Given the description of an element on the screen output the (x, y) to click on. 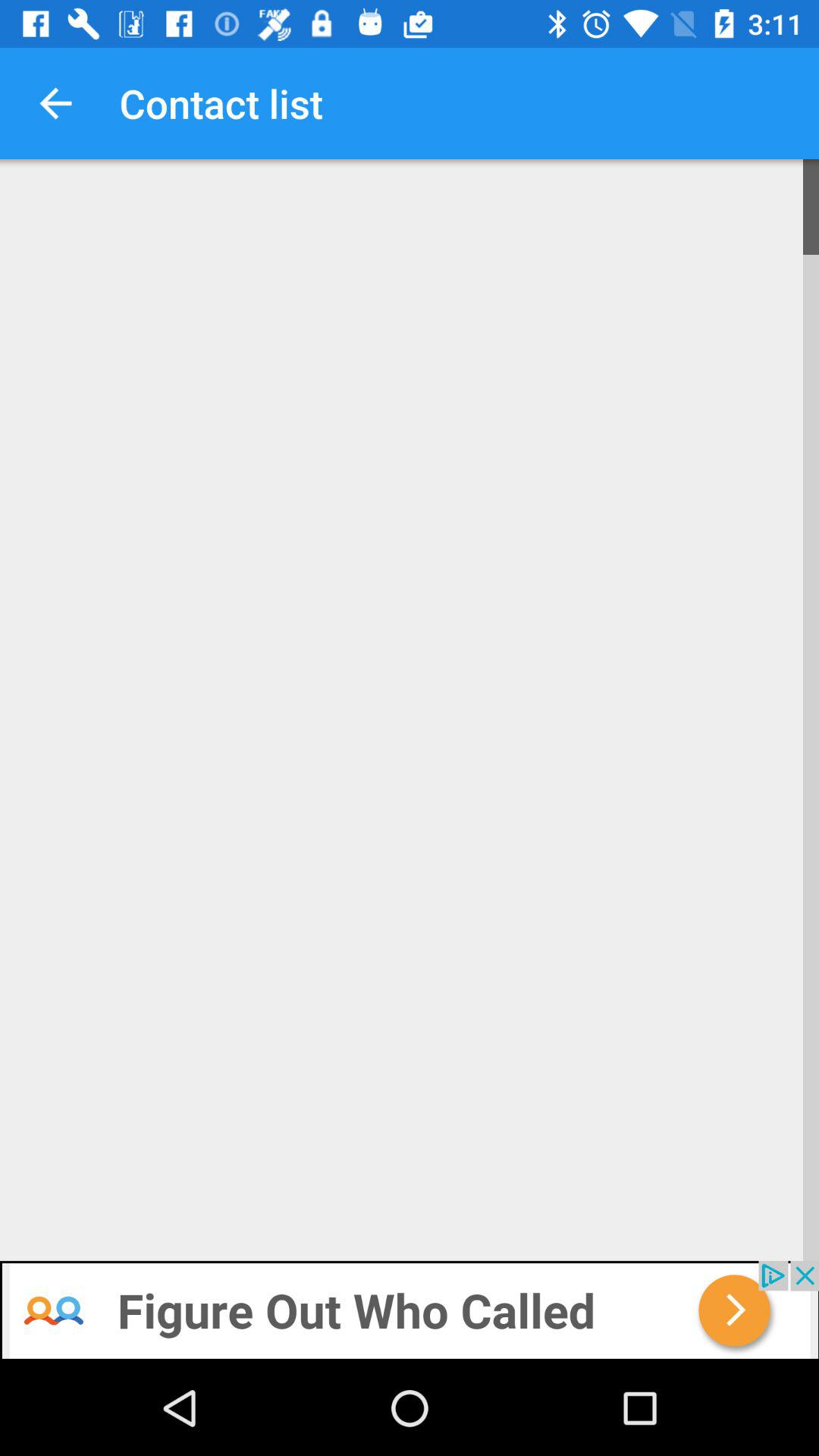
select advertisement (409, 1310)
